Given the description of an element on the screen output the (x, y) to click on. 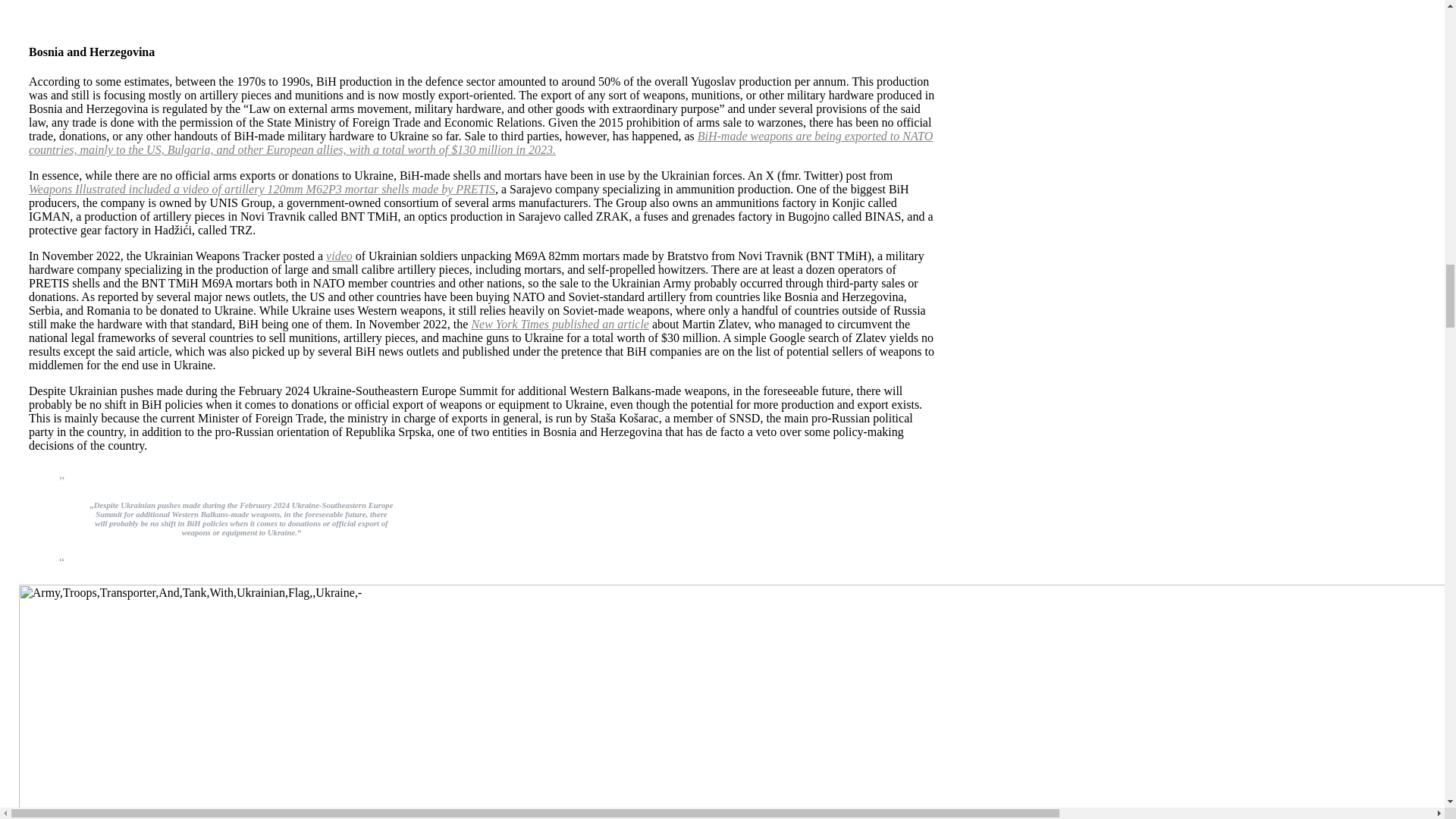
New York Times published an article (559, 323)
video (339, 255)
